Given the description of an element on the screen output the (x, y) to click on. 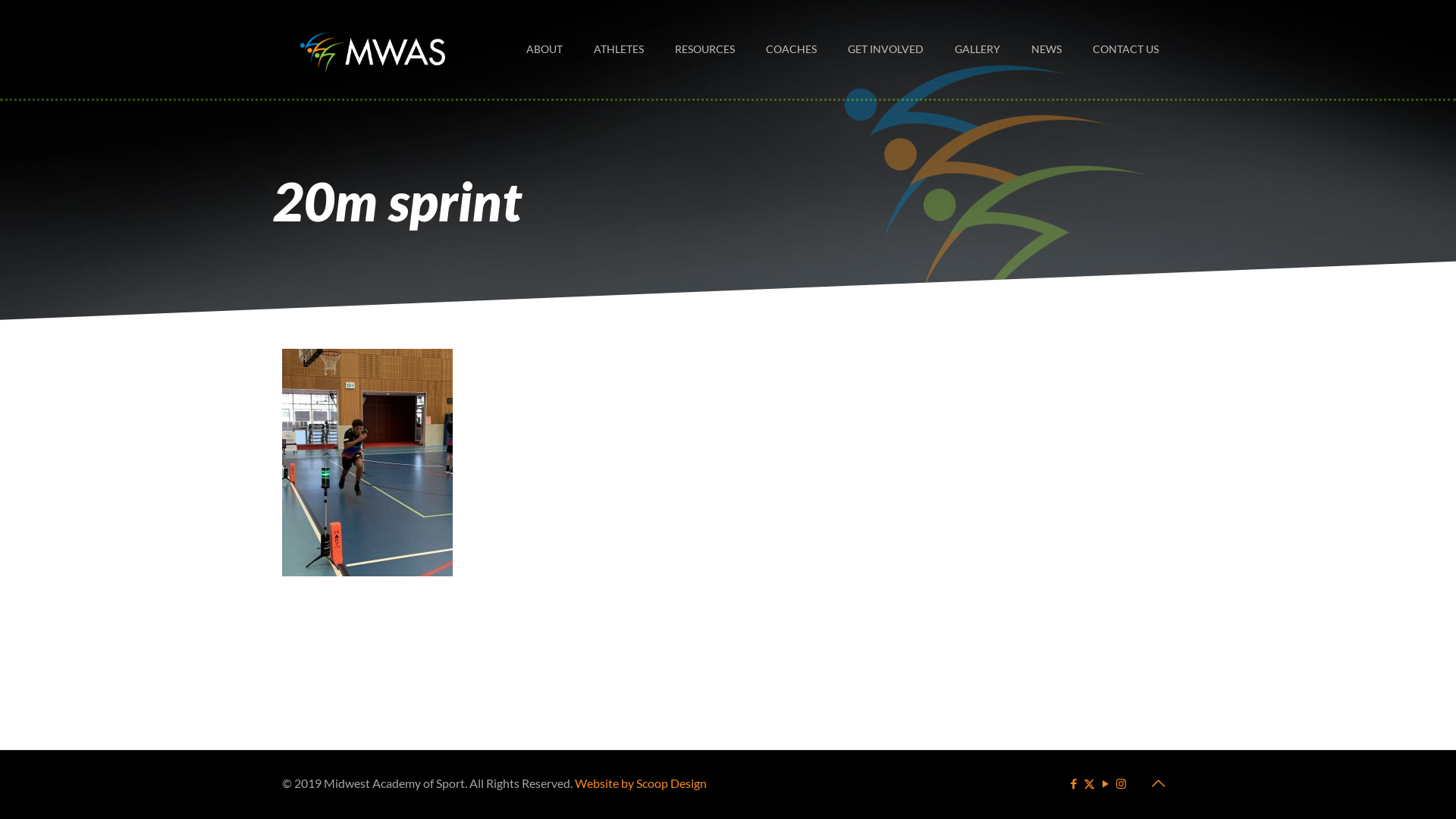
X (Twitter) Element type: hover (1089, 783)
GET INVOLVED Element type: text (885, 49)
GALLERY Element type: text (977, 49)
RESOURCES Element type: text (704, 49)
Midwest Academy of Sport Element type: hover (372, 49)
Website by Scoop Design Element type: text (640, 782)
ATHLETES Element type: text (618, 49)
Instagram Element type: hover (1120, 783)
Facebook Element type: hover (1073, 783)
NEWS Element type: text (1046, 49)
CONTACT US Element type: text (1125, 49)
ABOUT Element type: text (544, 49)
COACHES Element type: text (791, 49)
YouTube Element type: hover (1104, 783)
